Given the description of an element on the screen output the (x, y) to click on. 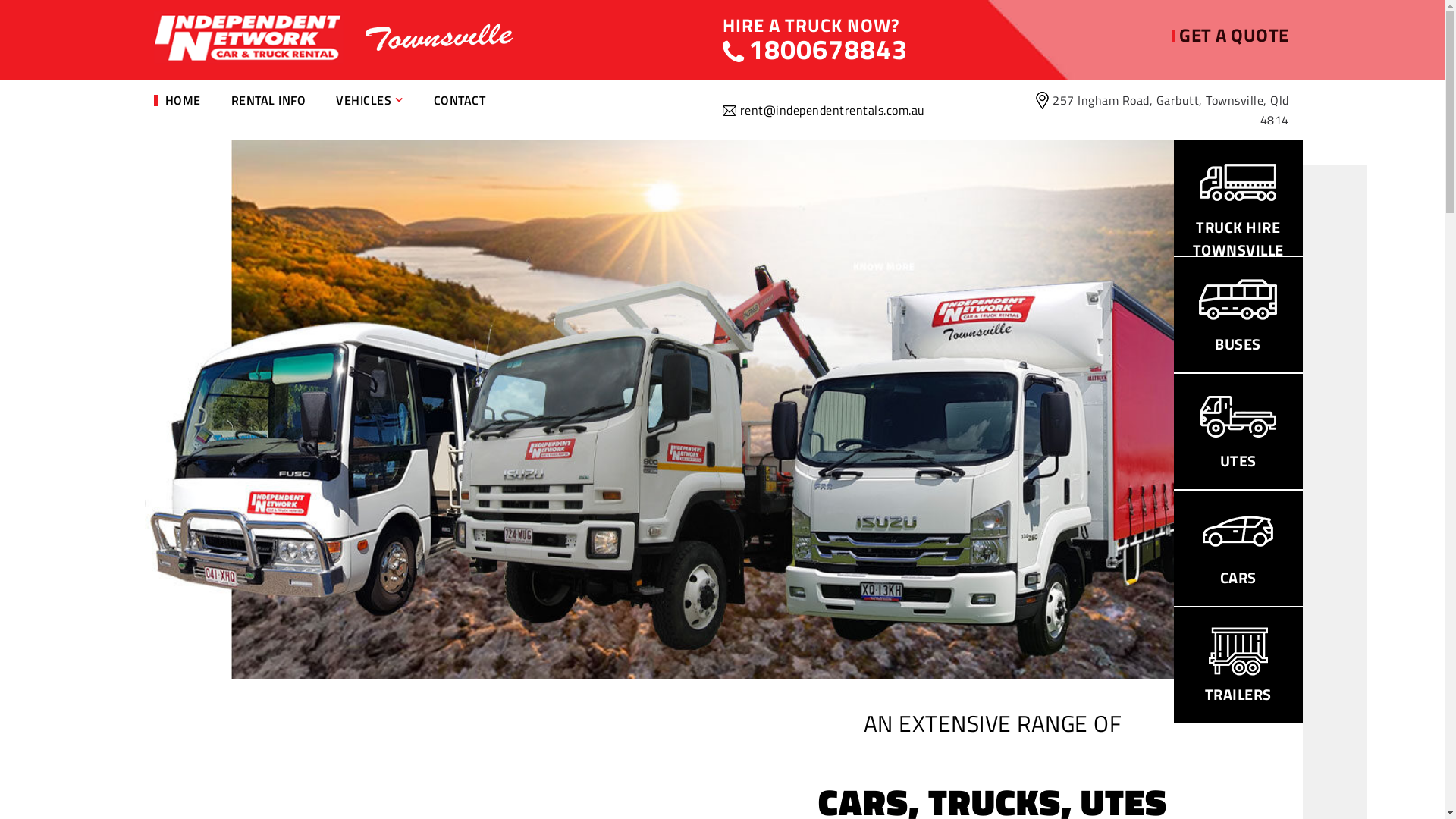
rent@independentrentals.com.au Element type: text (832, 109)
TRUCK HIRE TOWNSVILLE Element type: text (1238, 204)
GET A QUOTE Element type: text (1234, 35)
UTES Element type: text (1238, 426)
BUSES Element type: text (1238, 309)
main-banner Element type: hover (658, 409)
CARS Element type: text (1238, 543)
TRAILERS Element type: text (1238, 660)
HOME Element type: text (182, 100)
1800678843 Element type: text (813, 48)
VEHICLES Element type: text (369, 100)
CONTACT Element type: text (459, 100)
RENTAL INFO Element type: text (267, 100)
